Given the description of an element on the screen output the (x, y) to click on. 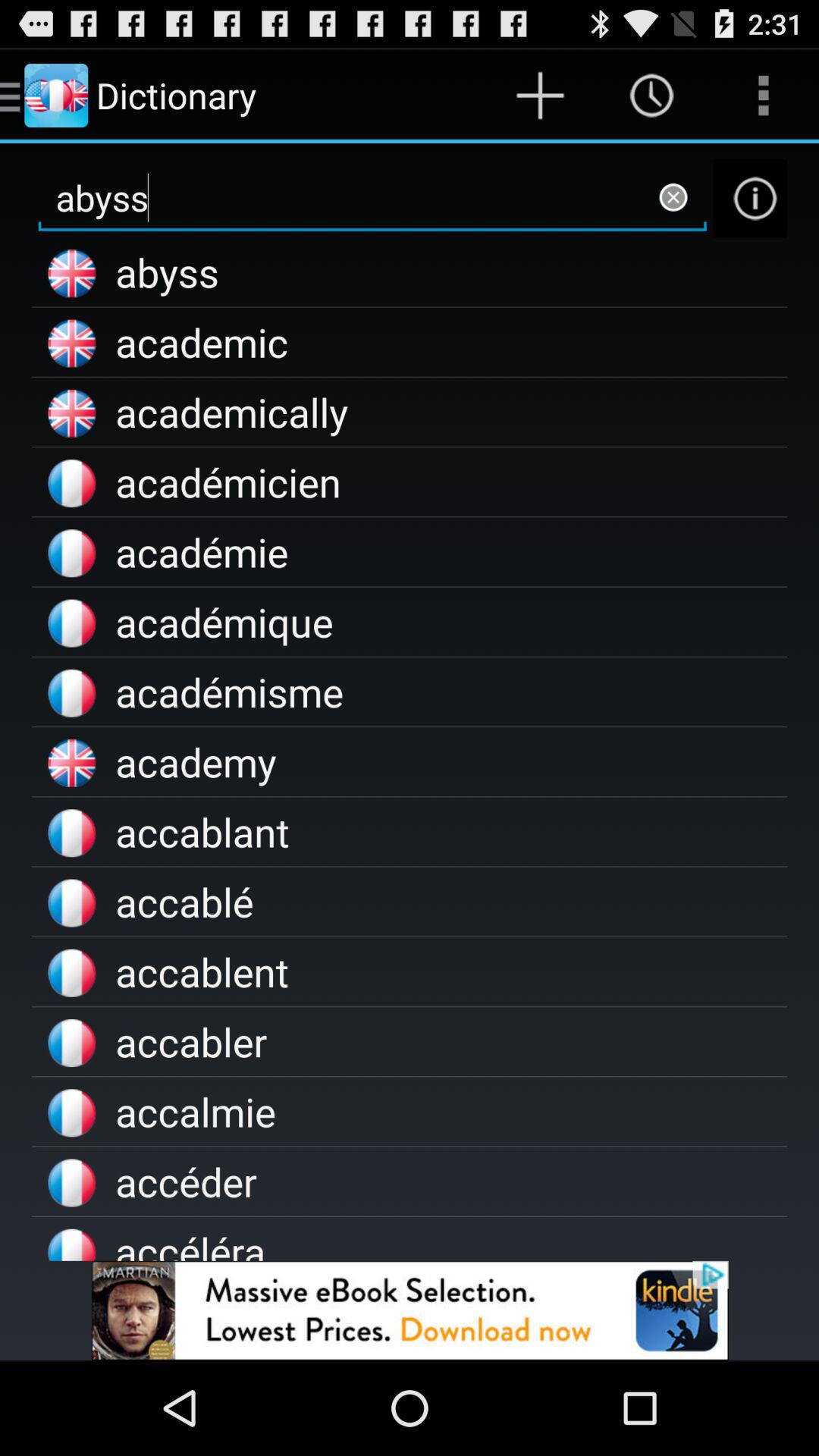
advertisement (409, 1310)
